Given the description of an element on the screen output the (x, y) to click on. 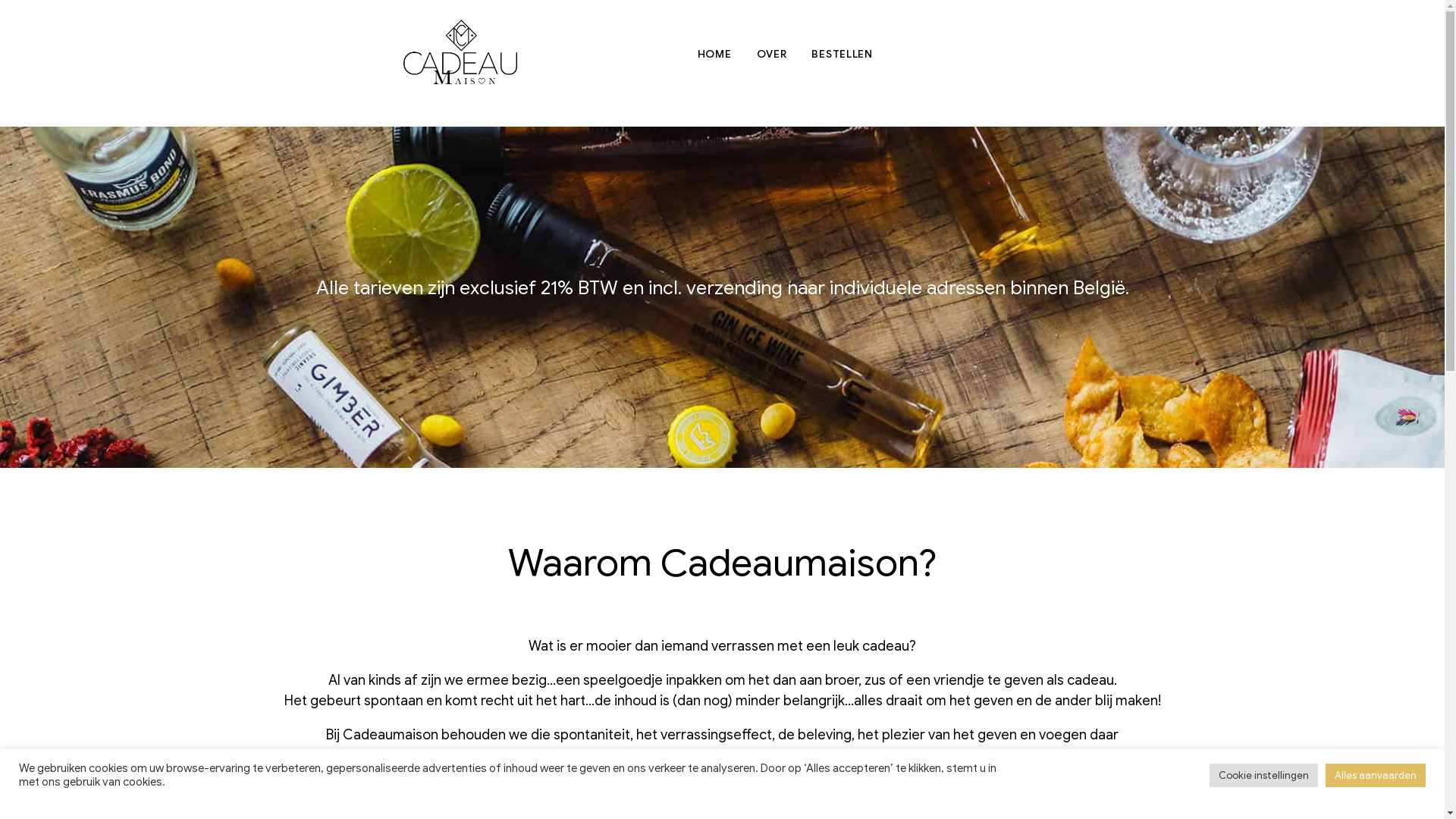
BESTELLEN Element type: text (841, 53)
OVER Element type: text (771, 53)
HOME Element type: text (714, 53)
Alles aanvaarden Element type: text (1375, 775)
Cookie instellingen Element type: text (1263, 775)
